Given the description of an element on the screen output the (x, y) to click on. 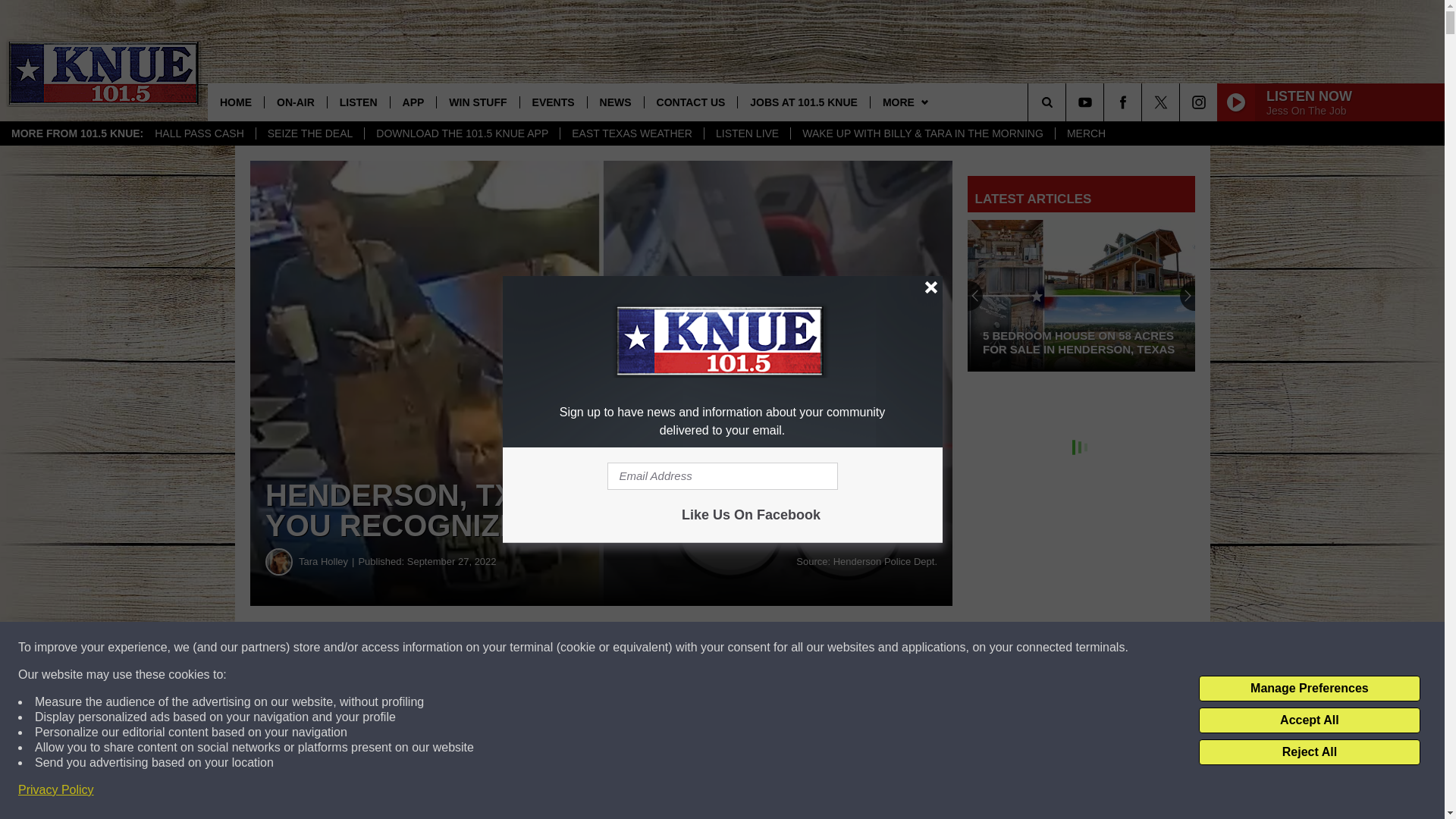
APP (413, 102)
SEARCH (1068, 102)
LISTEN (358, 102)
Share on Twitter (741, 647)
Accept All (1309, 720)
Reject All (1309, 751)
MERCH (1085, 133)
SEIZE THE DEAL (310, 133)
Email Address (722, 475)
Privacy Policy (55, 789)
HALL PASS CASH (199, 133)
ON-AIR (294, 102)
DOWNLOAD THE 101.5 KNUE APP (461, 133)
SEARCH (1068, 102)
Share on Facebook (460, 647)
